Given the description of an element on the screen output the (x, y) to click on. 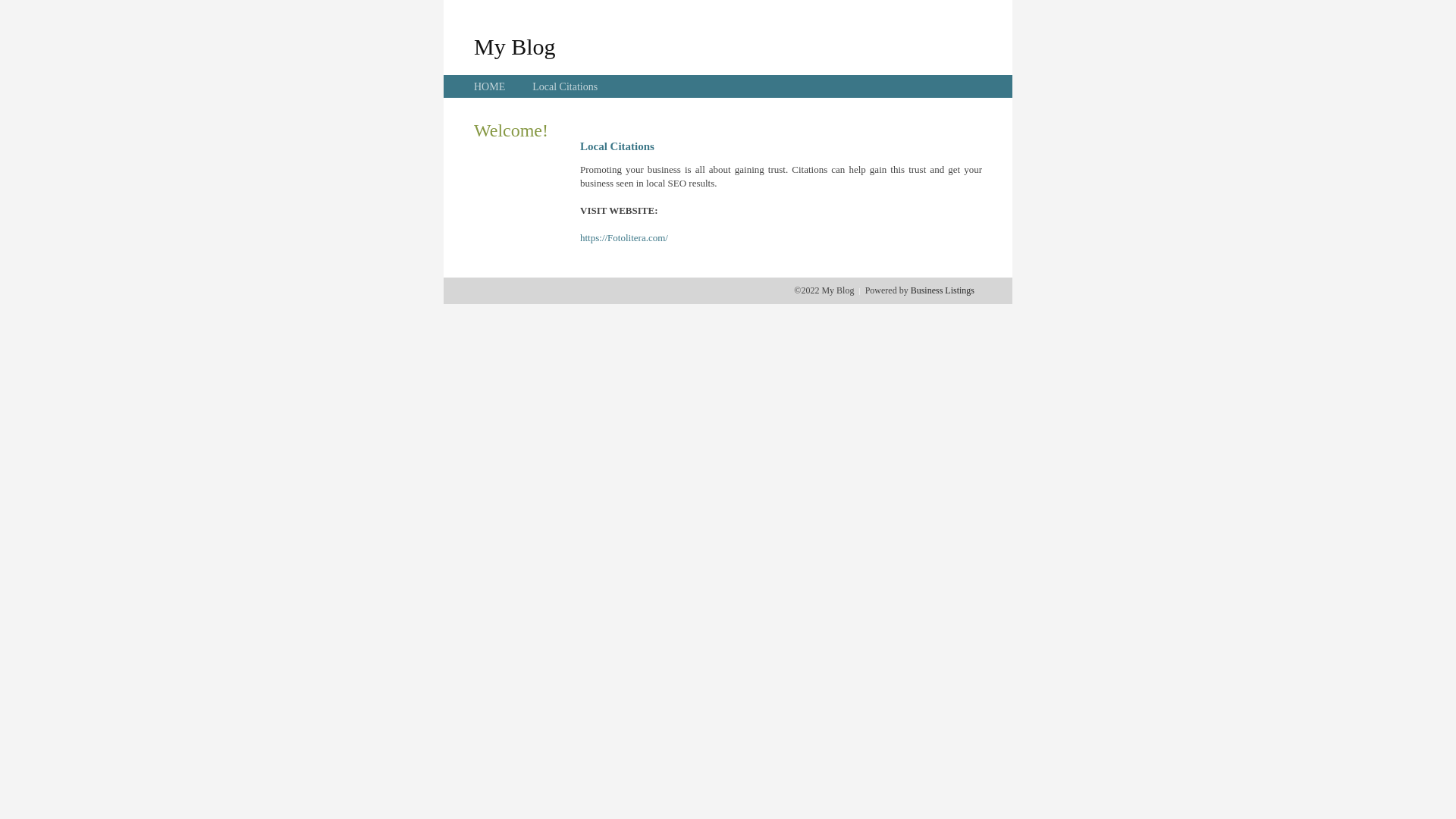
Business Listings Element type: text (942, 290)
https://Fotolitera.com/ Element type: text (624, 237)
HOME Element type: text (489, 86)
Local Citations Element type: text (564, 86)
My Blog Element type: text (514, 46)
